Given the description of an element on the screen output the (x, y) to click on. 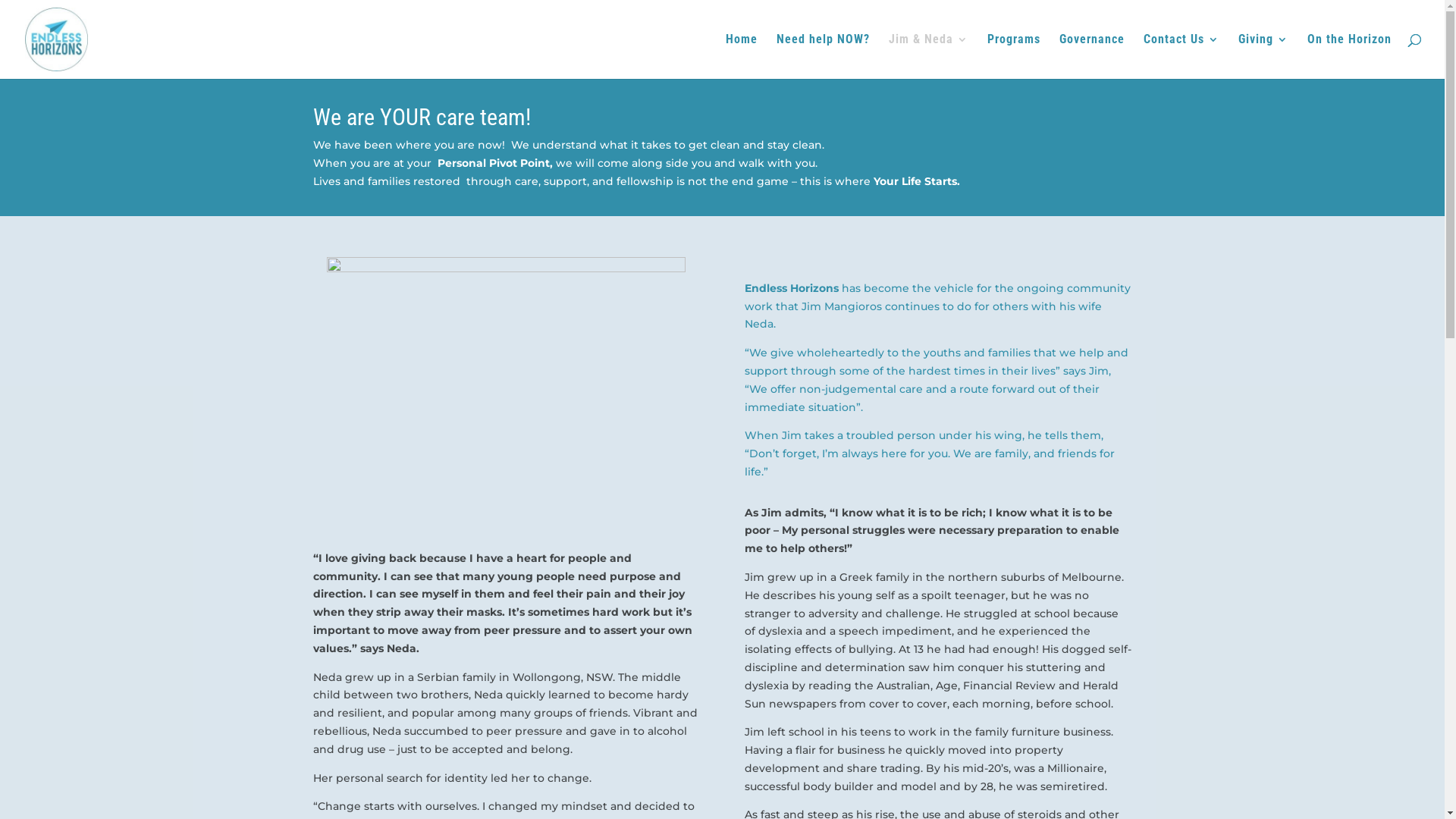
On the Horizon Element type: text (1349, 56)
Jim & Neda Element type: text (928, 56)
Home Element type: text (741, 56)
Jim and Neda 3 Element type: hover (505, 392)
Programs Element type: text (1013, 56)
Governance Element type: text (1091, 56)
Contact Us Element type: text (1181, 56)
Giving Element type: text (1263, 56)
Need help NOW? Element type: text (822, 56)
